Given the description of an element on the screen output the (x, y) to click on. 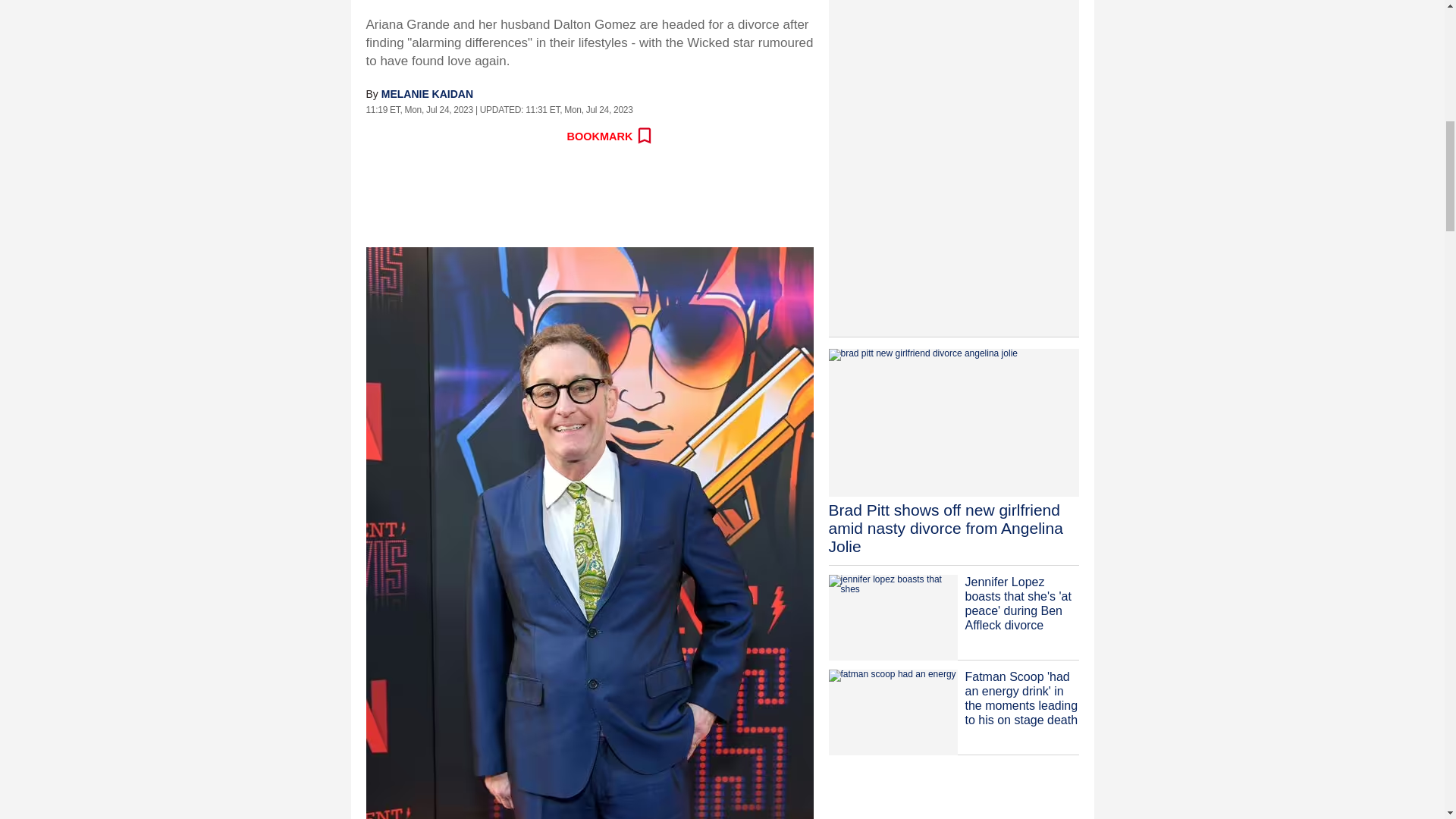
Share on Twitter (411, 136)
Share on Facebook (378, 136)
Copy link (544, 136)
fatman scoop had an energy (892, 712)
Share on Pinterest (511, 136)
Share on Reddit (445, 136)
